Given the description of an element on the screen output the (x, y) to click on. 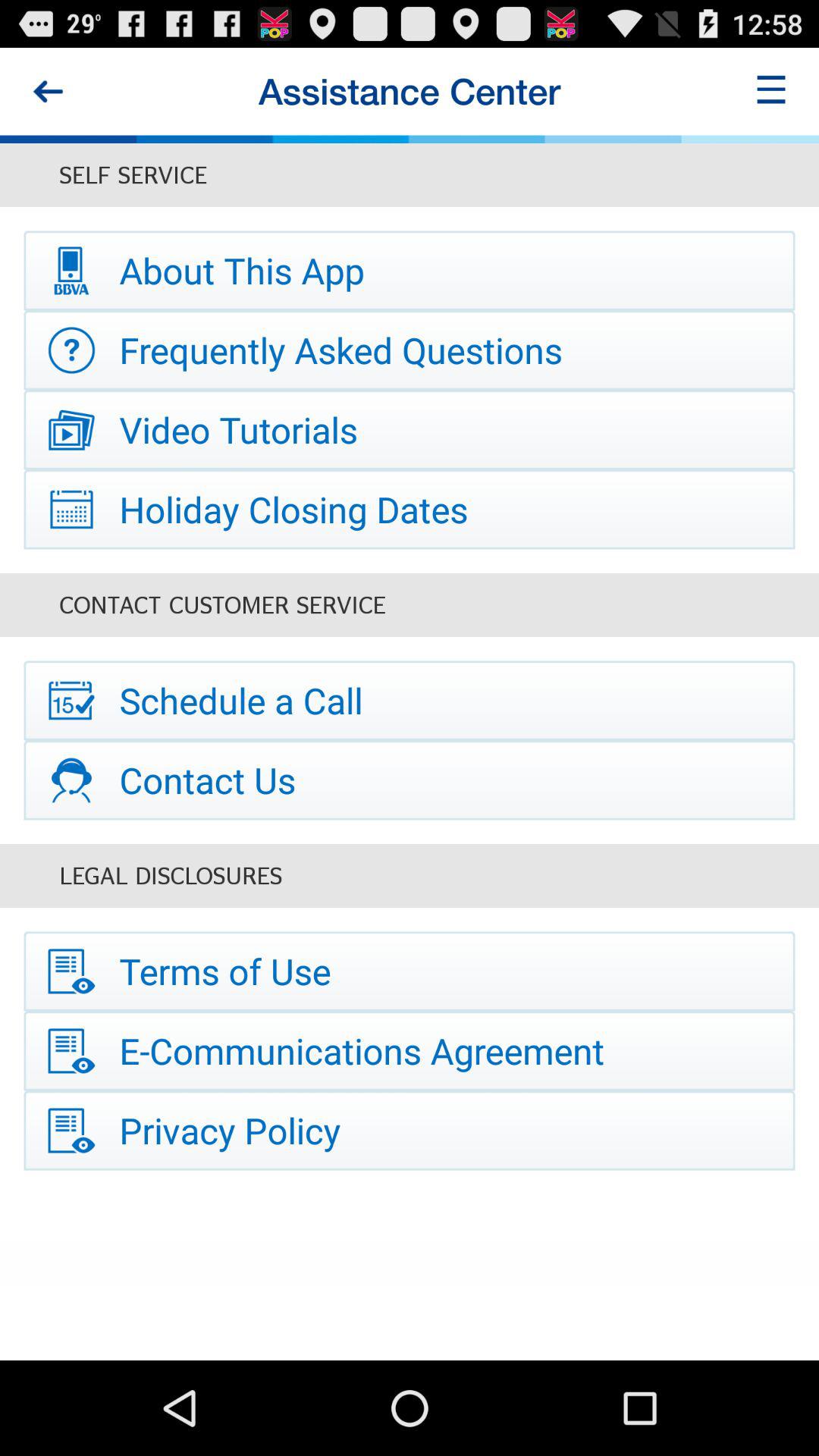
open the e-communications agreement icon (409, 1050)
